Given the description of an element on the screen output the (x, y) to click on. 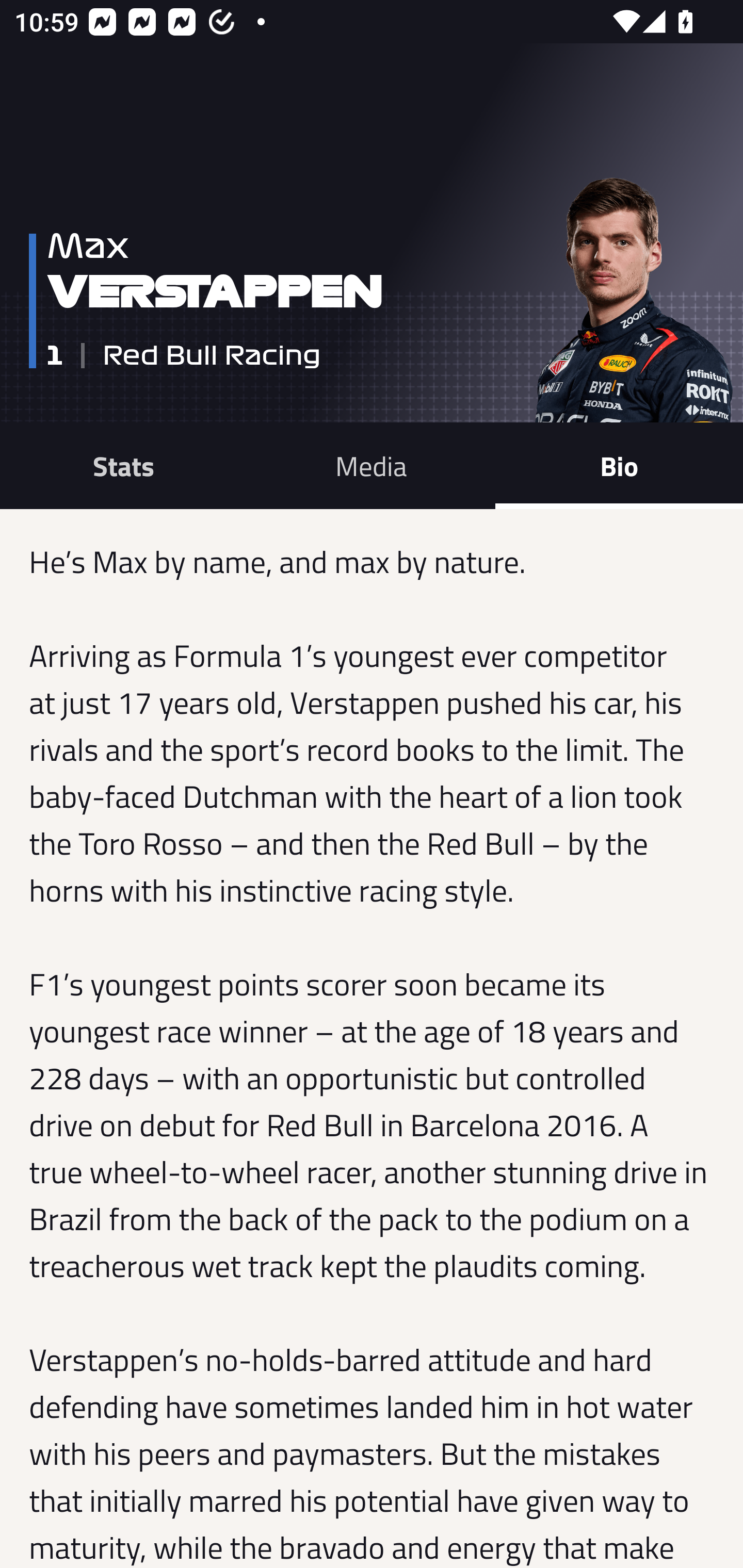
Stats (123, 465)
Media (371, 465)
